Given the description of an element on the screen output the (x, y) to click on. 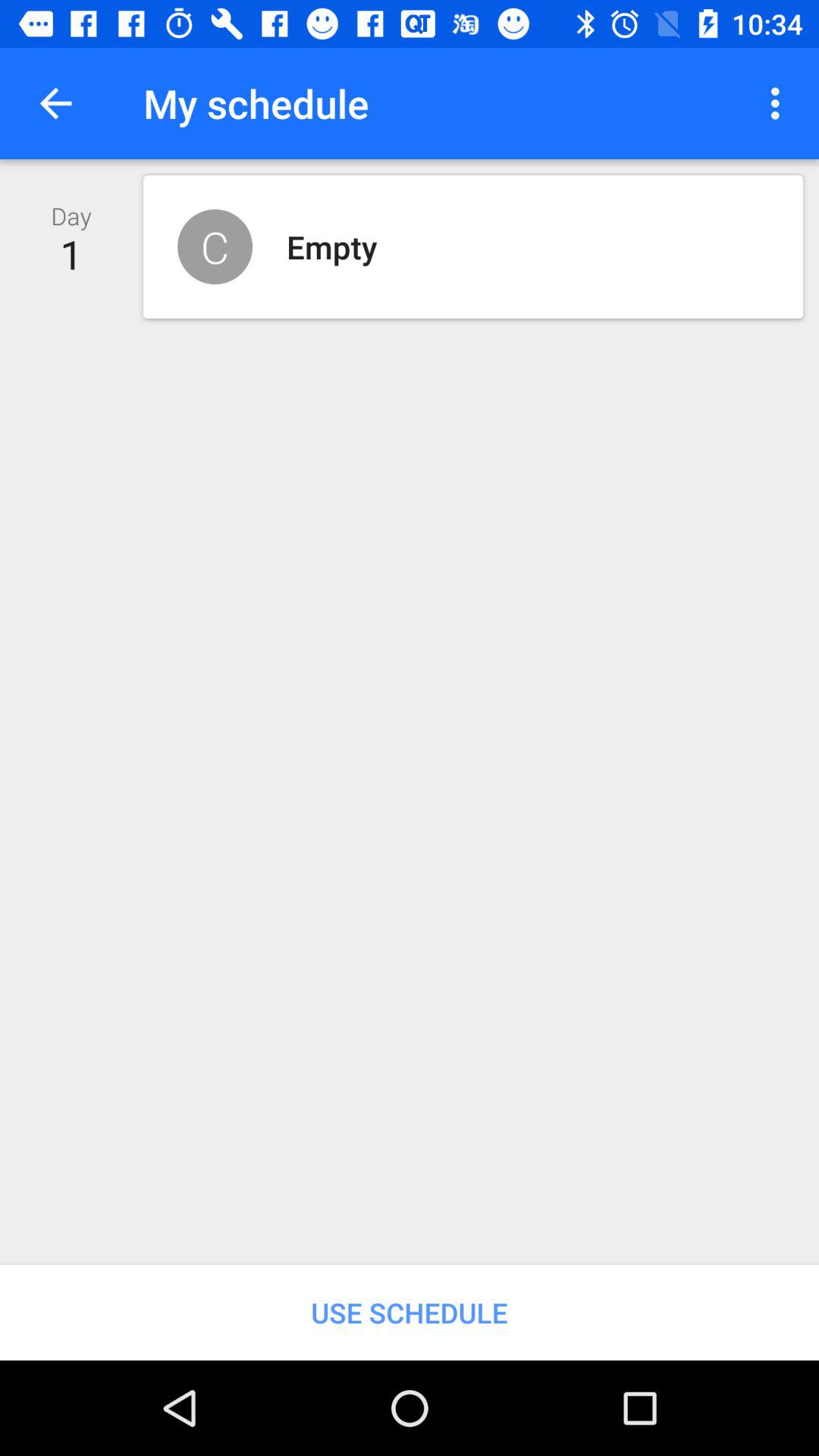
open the icon next to the my schedule icon (779, 103)
